Given the description of an element on the screen output the (x, y) to click on. 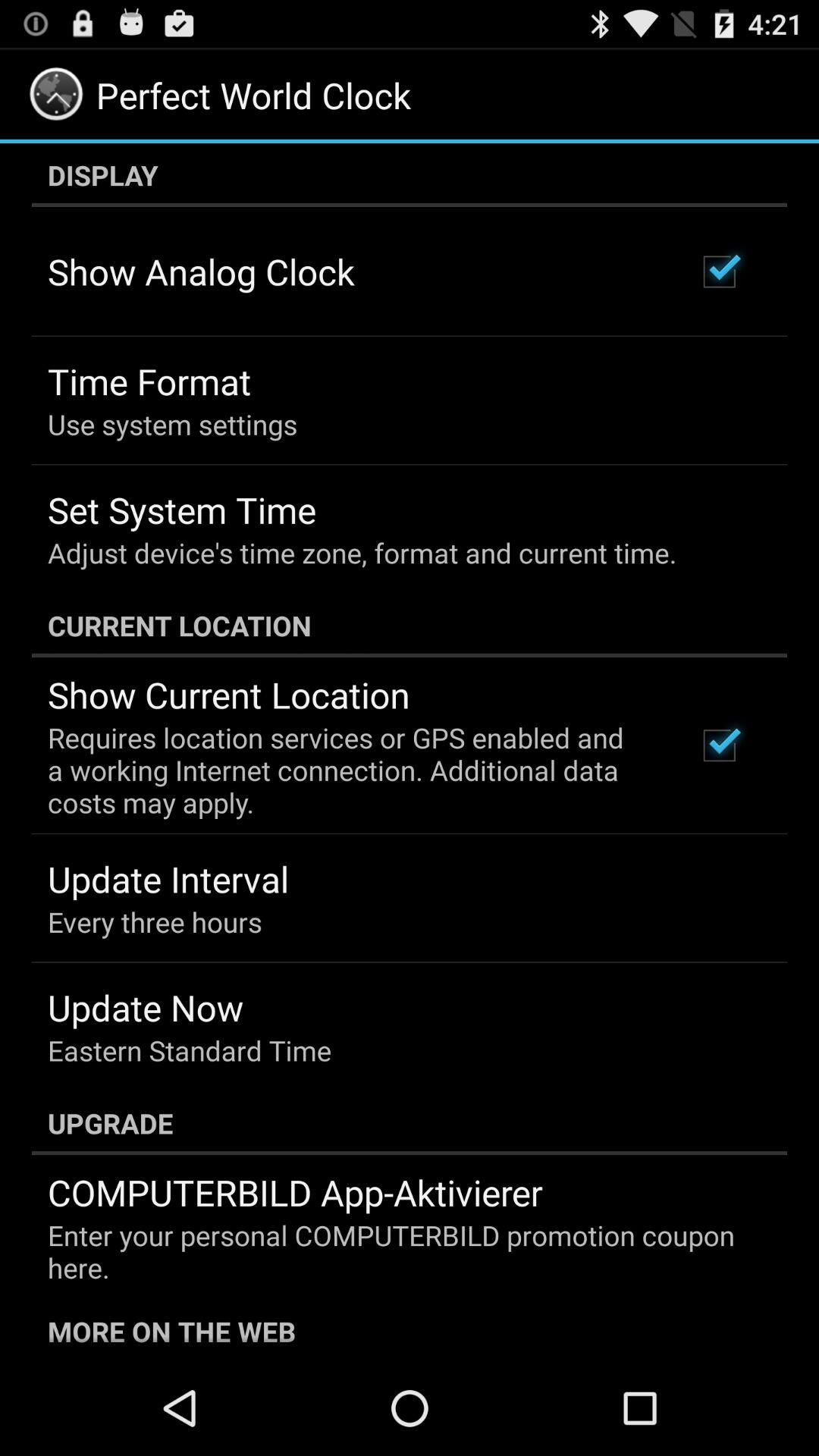
press the item above set system time item (172, 424)
